Given the description of an element on the screen output the (x, y) to click on. 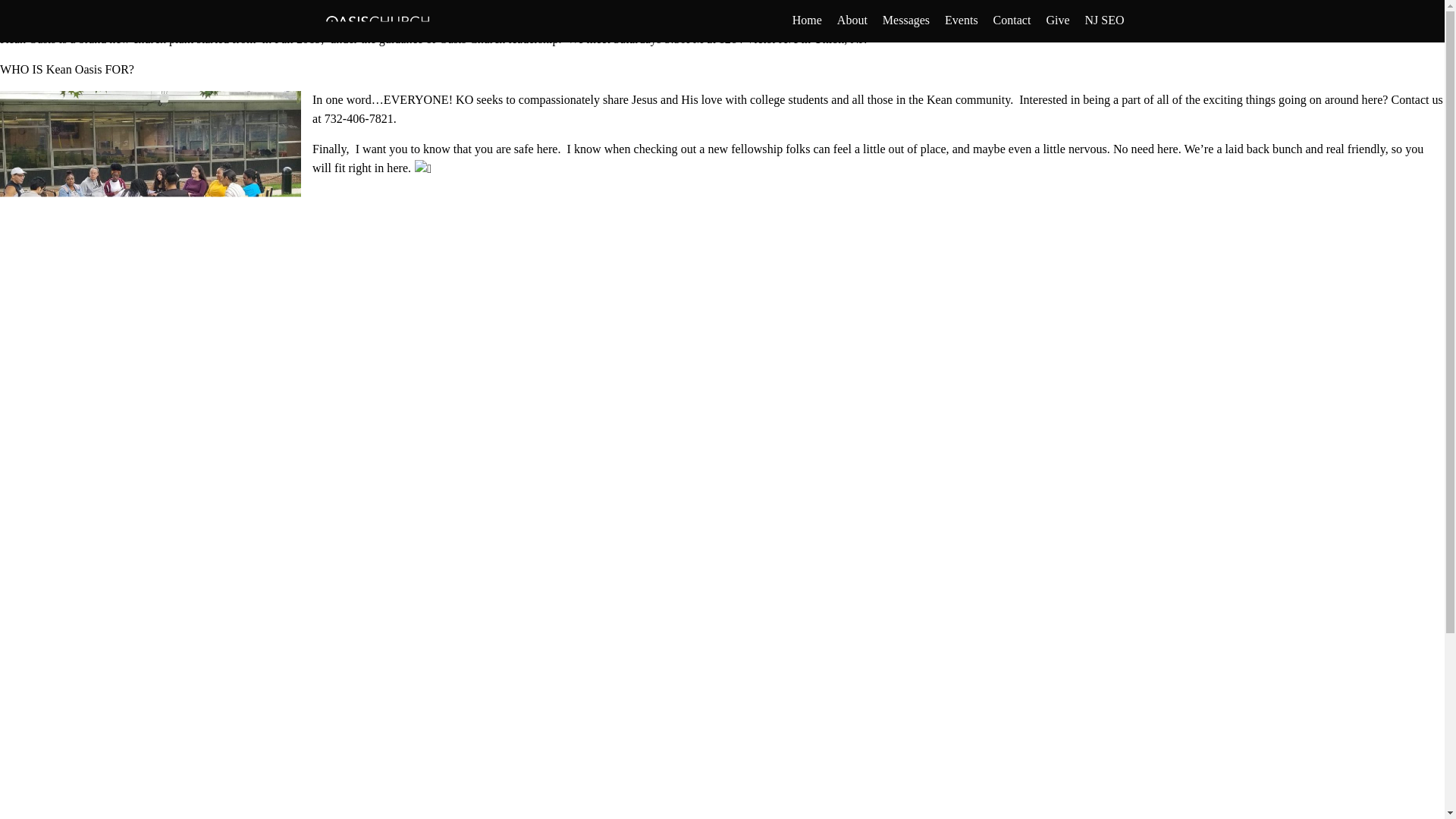
Contact (1011, 20)
Give (1056, 20)
About (852, 20)
ROC (534, 8)
NJ SEO (1104, 20)
Events (961, 20)
Oasis Church (603, 8)
Kean Oasis Church (420, 21)
Messages (906, 20)
Home (807, 20)
